Given the description of an element on the screen output the (x, y) to click on. 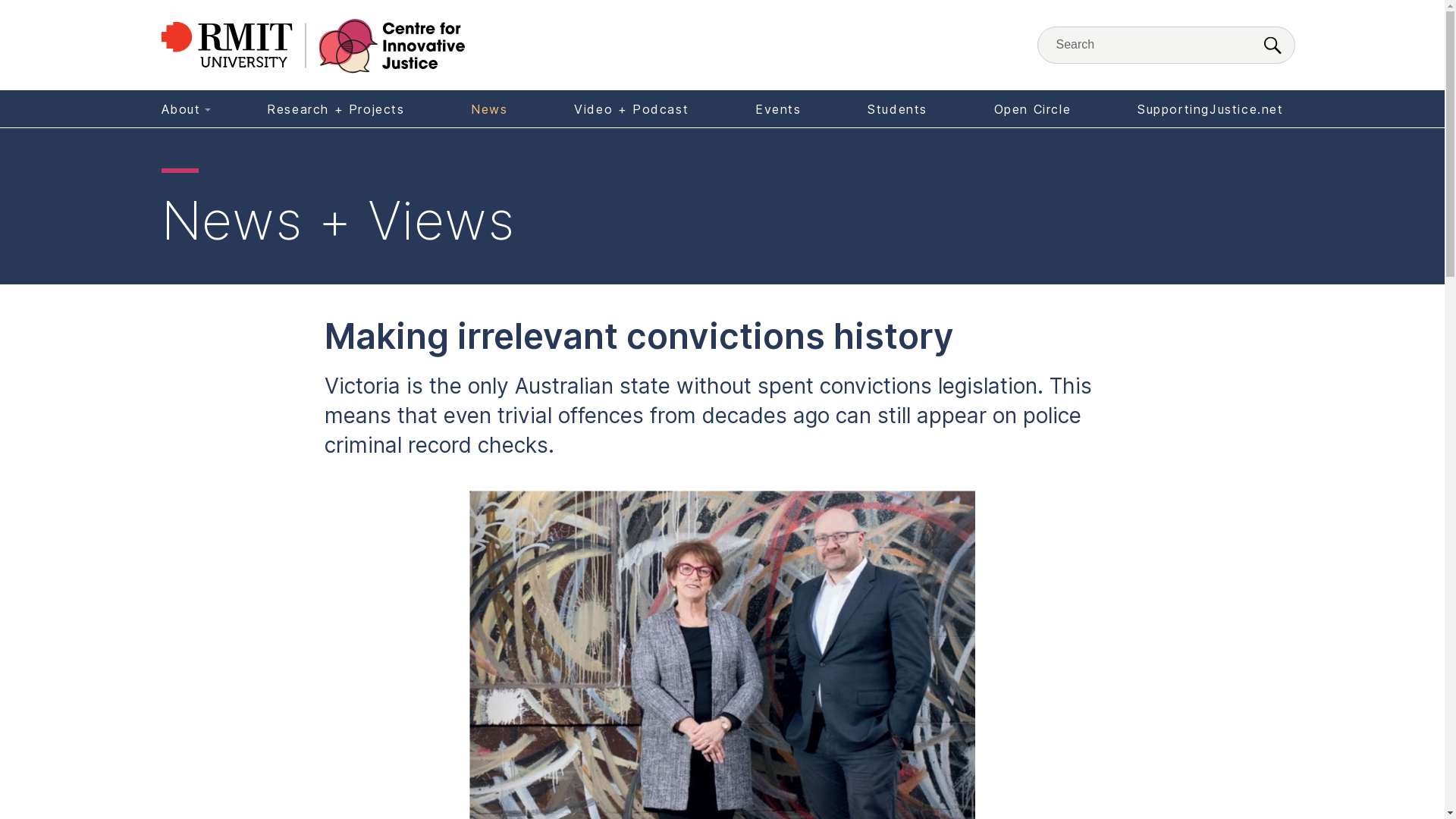
News Element type: text (488, 109)
Search Element type: text (1271, 46)
Open Circle Element type: text (1032, 109)
RMIT University Centre for Innovative Justice Element type: text (312, 46)
Events Element type: text (778, 109)
About Element type: text (183, 109)
Search for: Element type: hover (1166, 44)
SupportingJustice.net Element type: text (1206, 109)
Research + Projects Element type: text (335, 109)
Students Element type: text (897, 109)
Video + Podcast Element type: text (631, 109)
